Given the description of an element on the screen output the (x, y) to click on. 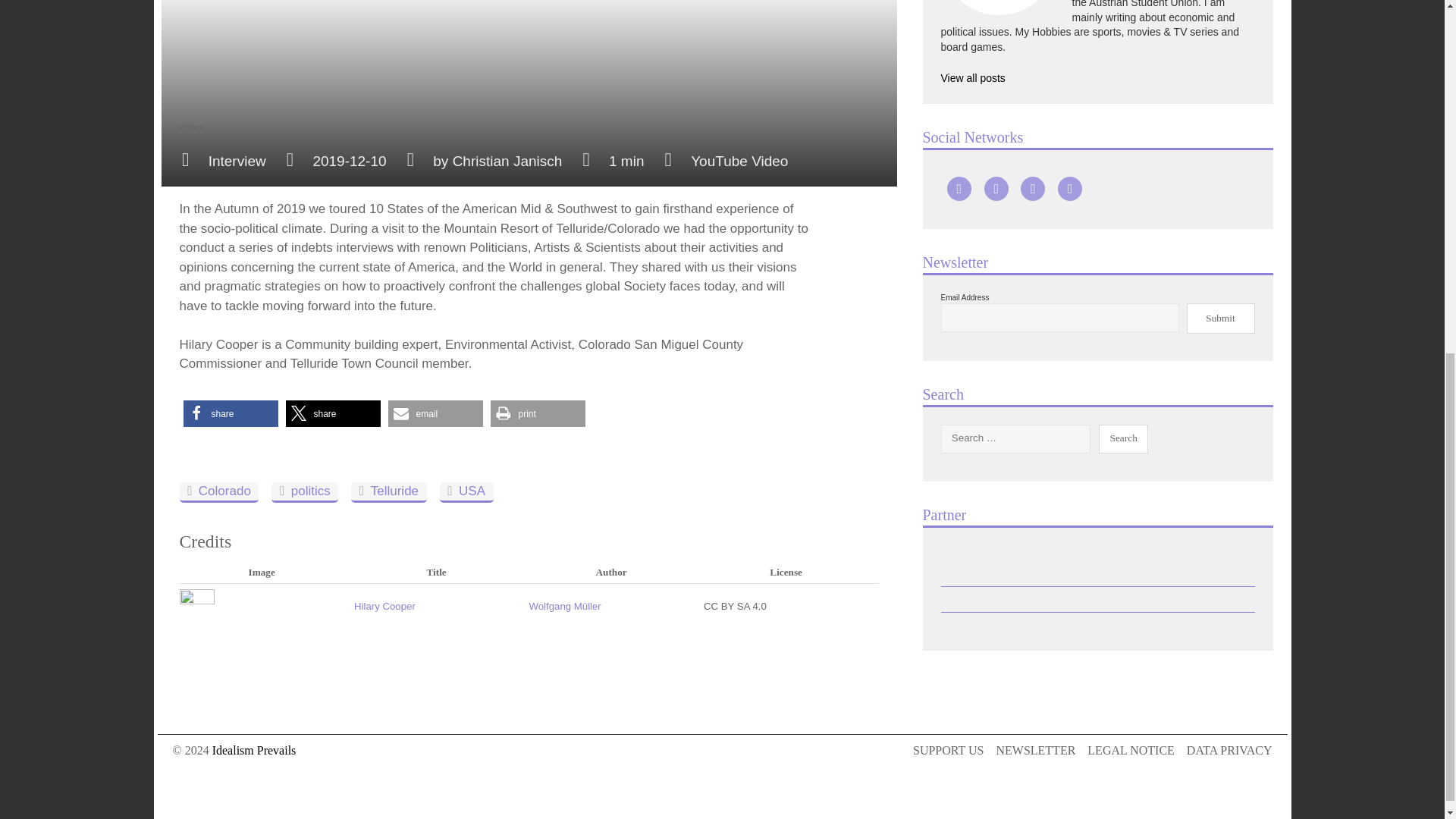
Facebook (996, 188)
Search (1123, 439)
Idealism Prevails (254, 749)
email  (435, 413)
print  (537, 413)
Twitter (1032, 188)
Youtube (959, 188)
Colorado (219, 492)
SUPPORT US (948, 750)
sender.fm (1106, 188)
